Given the description of an element on the screen output the (x, y) to click on. 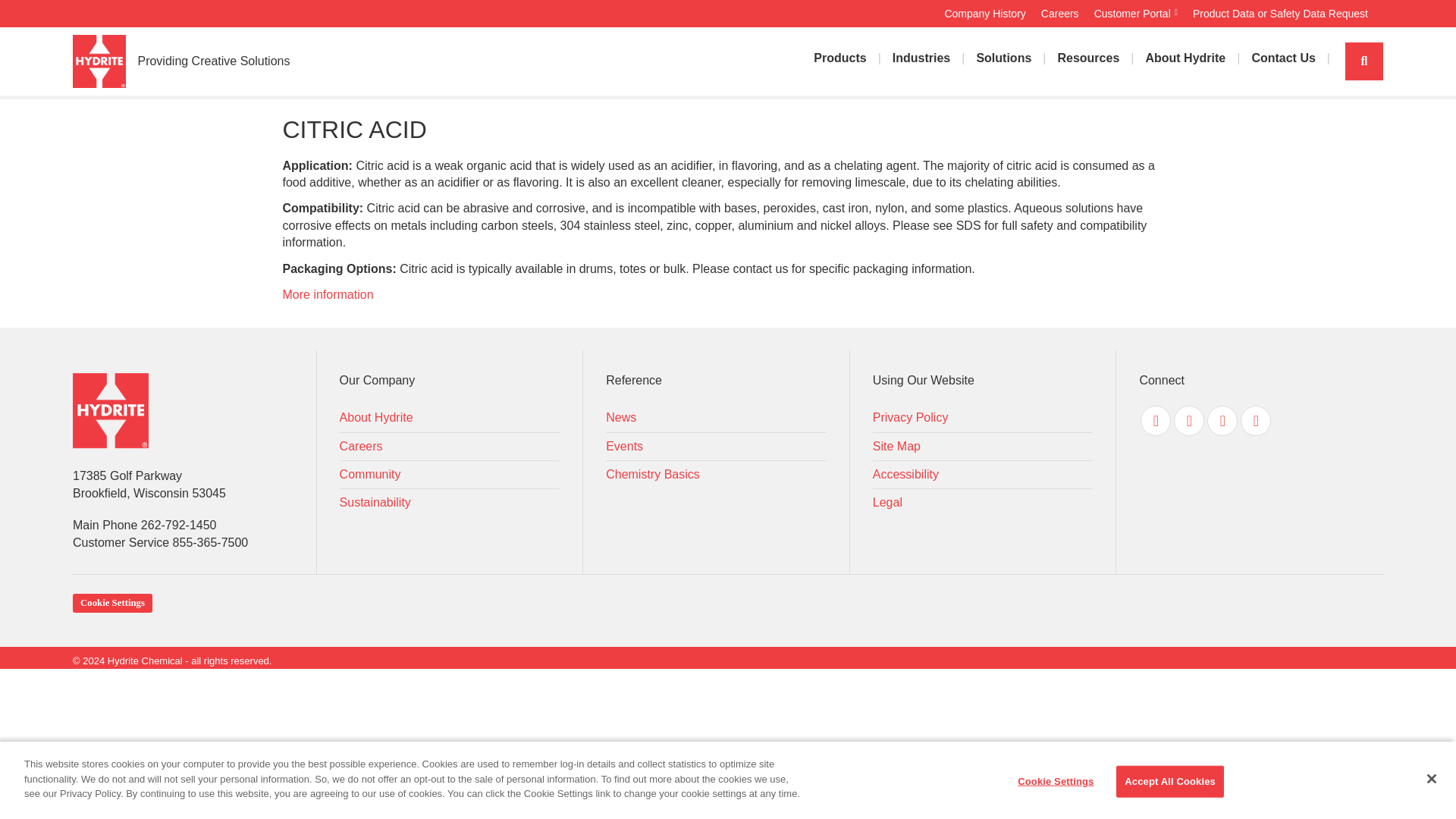
Product Data or Safety Data Request (1280, 13)
Providing Creative Solutions (207, 60)
About Hydrite (1185, 58)
Industries (920, 58)
Opens in a new window (1188, 420)
Customer Portal (1135, 13)
Opens in a new window (1222, 420)
Solutions (1002, 58)
Leaves this website (1135, 13)
Resources (1088, 58)
Careers (1059, 13)
Opens in a new window (1255, 420)
Products (839, 58)
Opens in a new window (1155, 420)
Company History (984, 13)
